Given the description of an element on the screen output the (x, y) to click on. 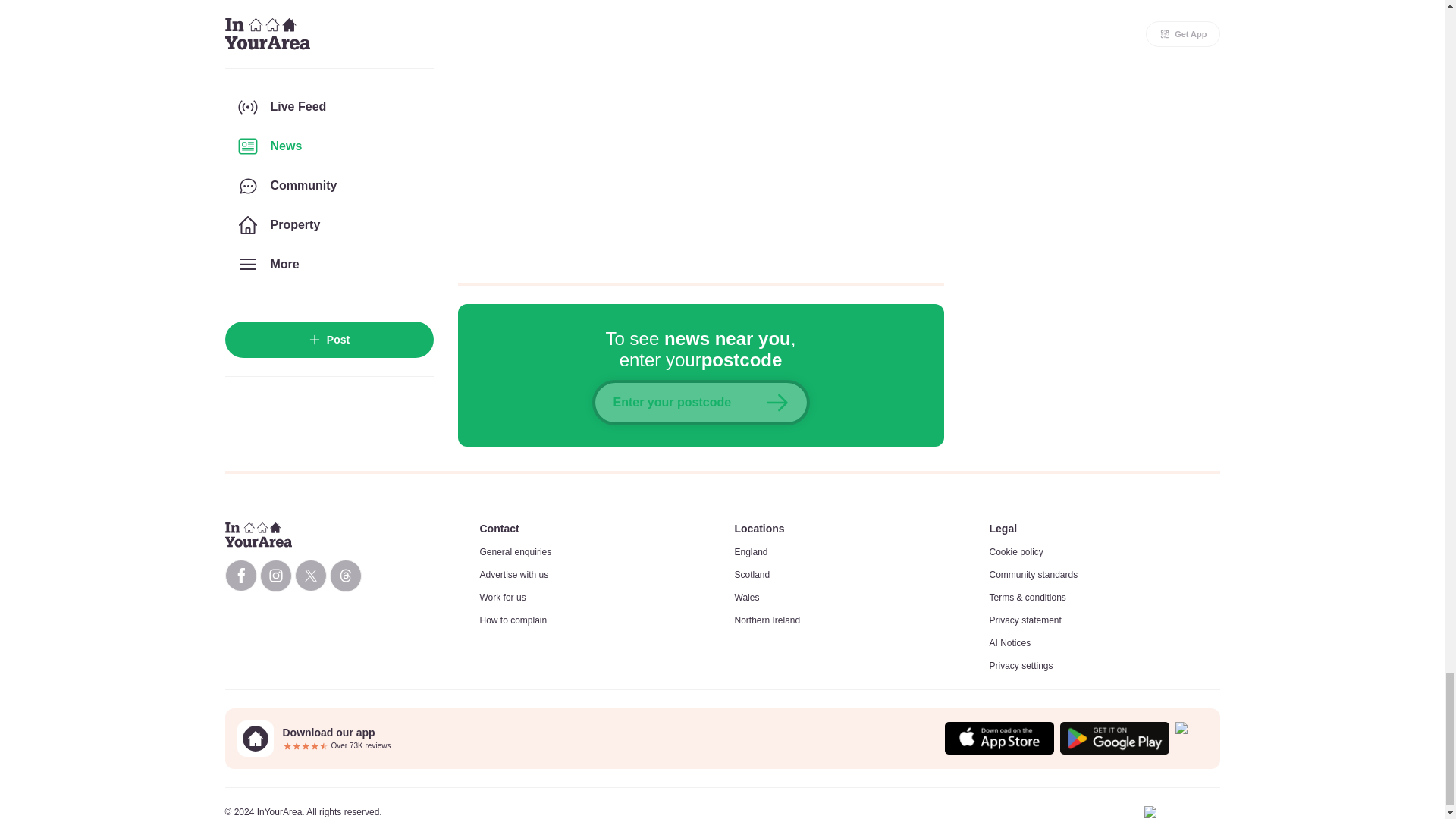
InYourArea Threads (345, 575)
InYourArea X (310, 575)
InYourArea Instagram (275, 575)
comments (701, 131)
InYourArea Facebook (240, 575)
